Given the description of an element on the screen output the (x, y) to click on. 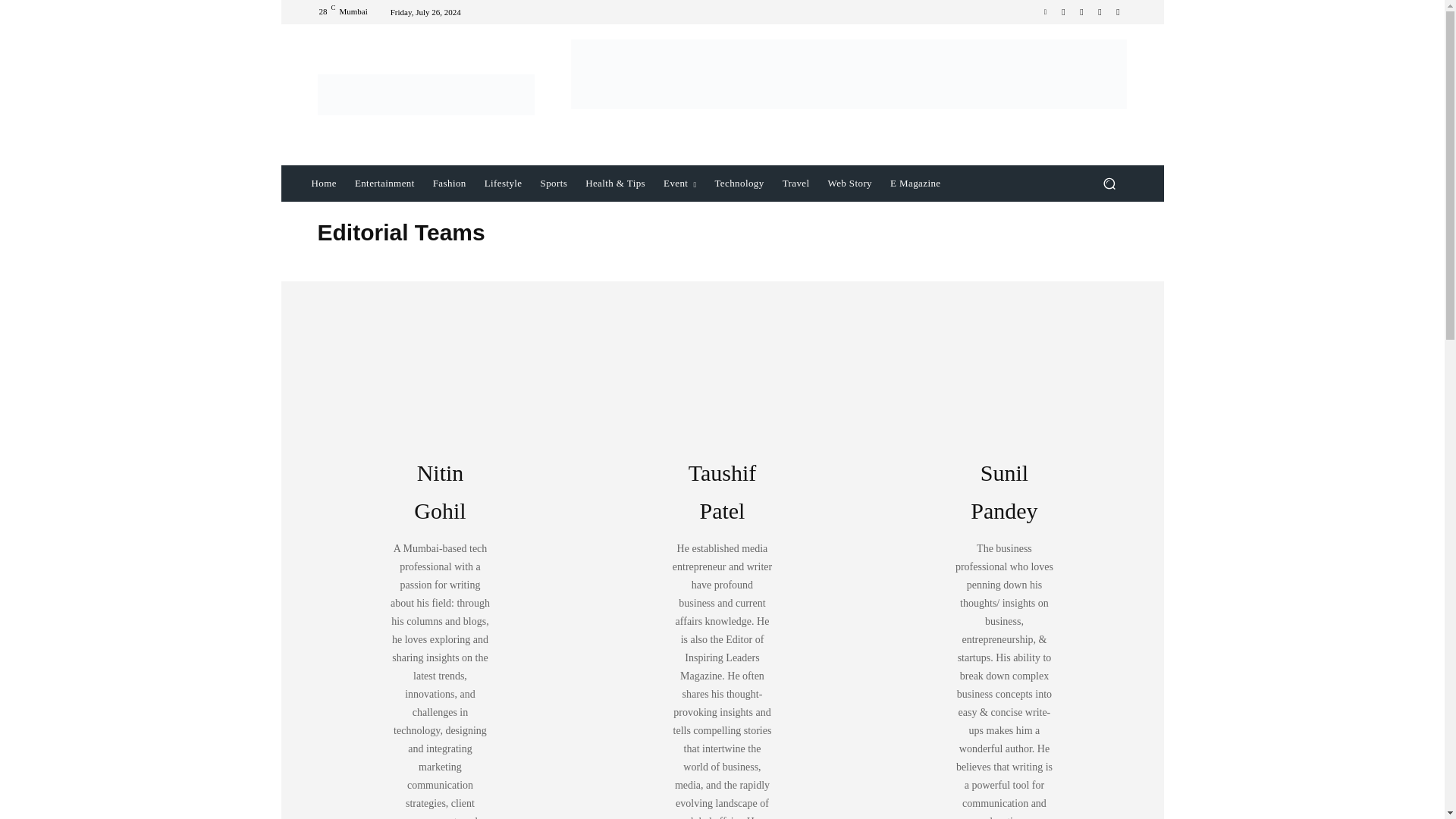
Youtube (1117, 12)
TImes Applaud Logo (425, 94)
WhatsApp (1099, 12)
Lifestyle (503, 183)
Sports (553, 183)
Technology (738, 183)
Web Story (850, 183)
Travel (795, 183)
E Magazine (914, 183)
Instagram (1080, 12)
Entertainment (384, 183)
Home (323, 183)
Event (678, 183)
Fashion (449, 183)
Facebook (1062, 12)
